Given the description of an element on the screen output the (x, y) to click on. 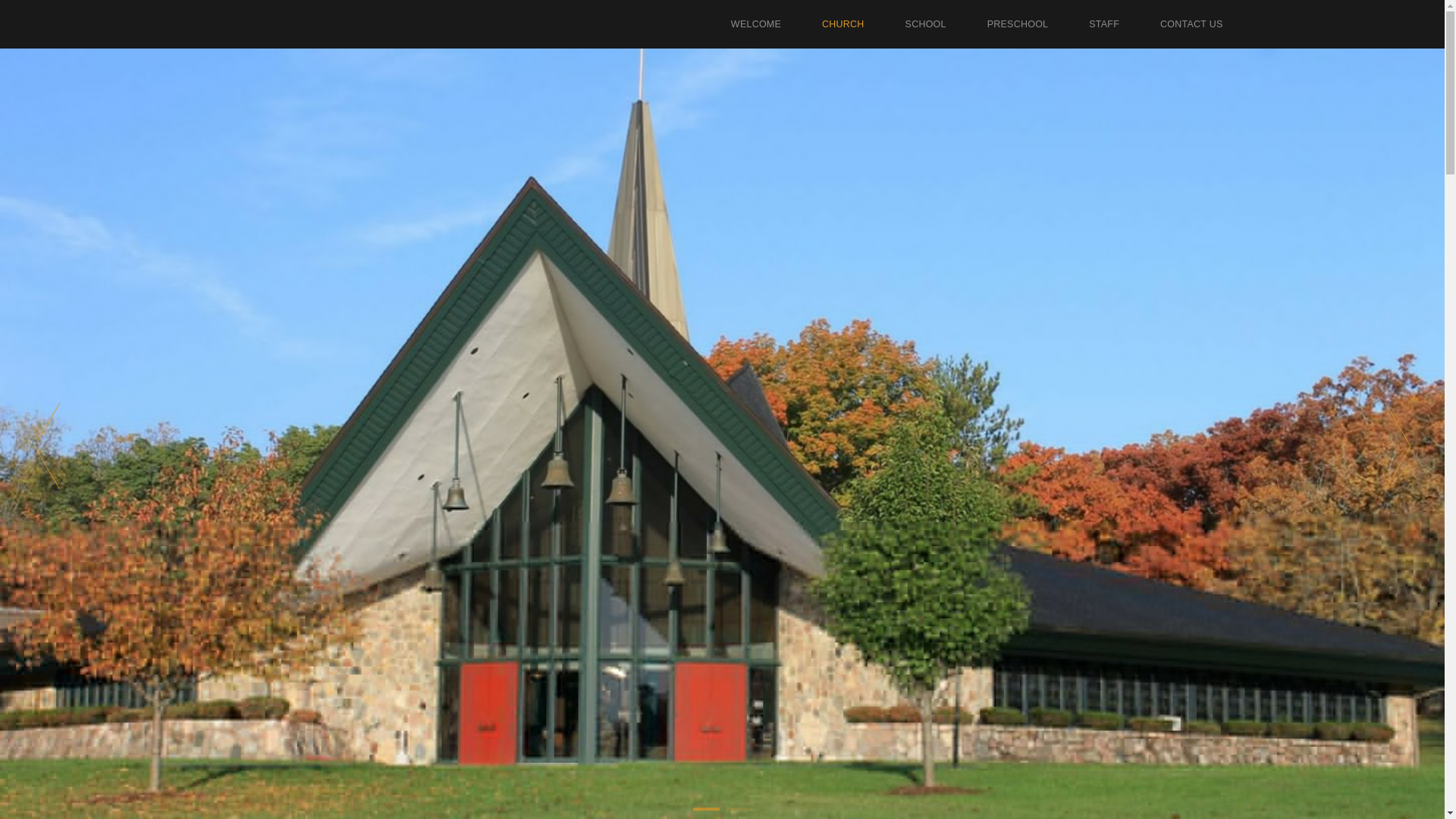
CHURCH (843, 24)
SCHOOL (925, 24)
WELCOME (756, 24)
